Given the description of an element on the screen output the (x, y) to click on. 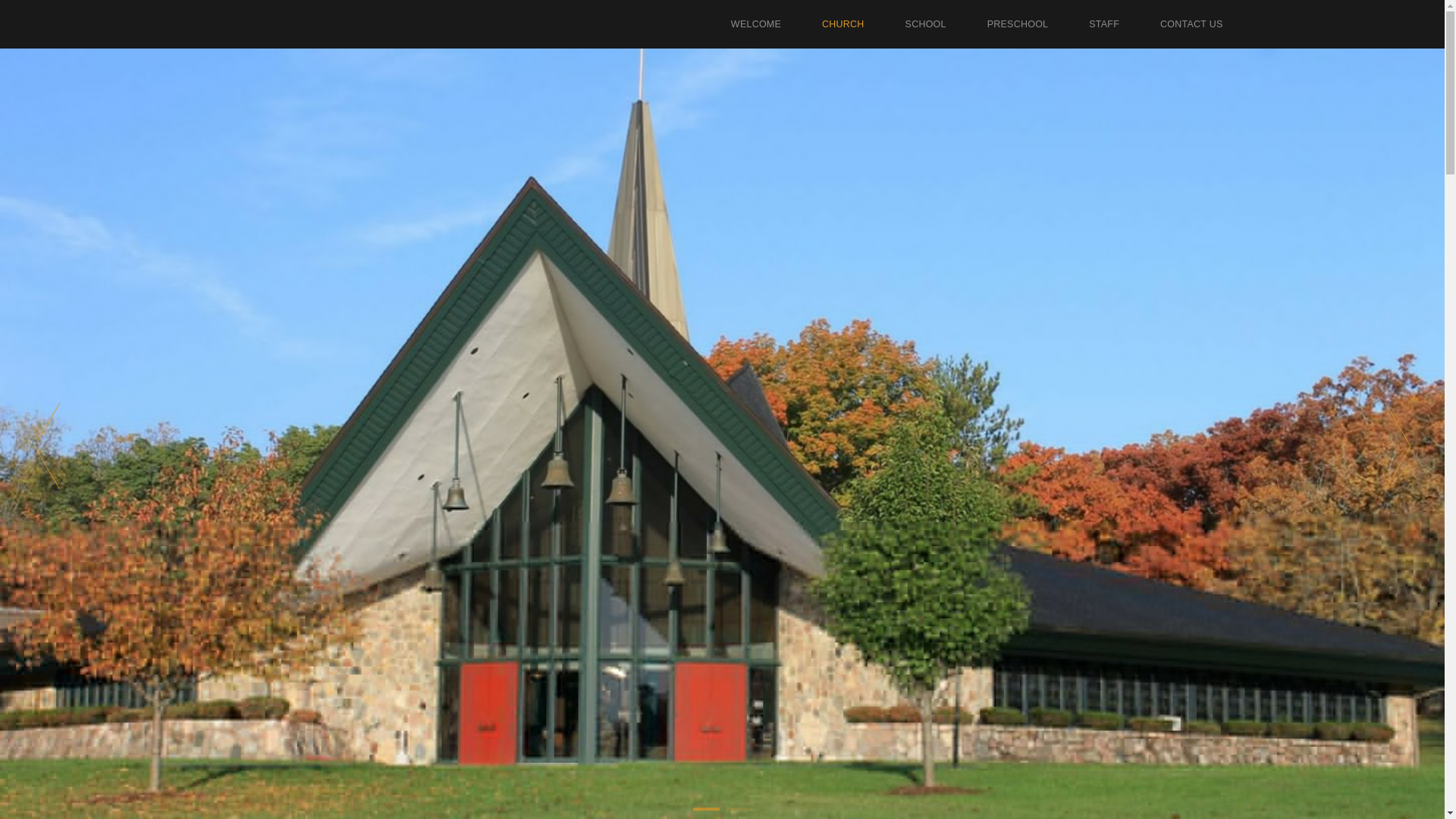
CHURCH (843, 24)
SCHOOL (925, 24)
WELCOME (756, 24)
